Given the description of an element on the screen output the (x, y) to click on. 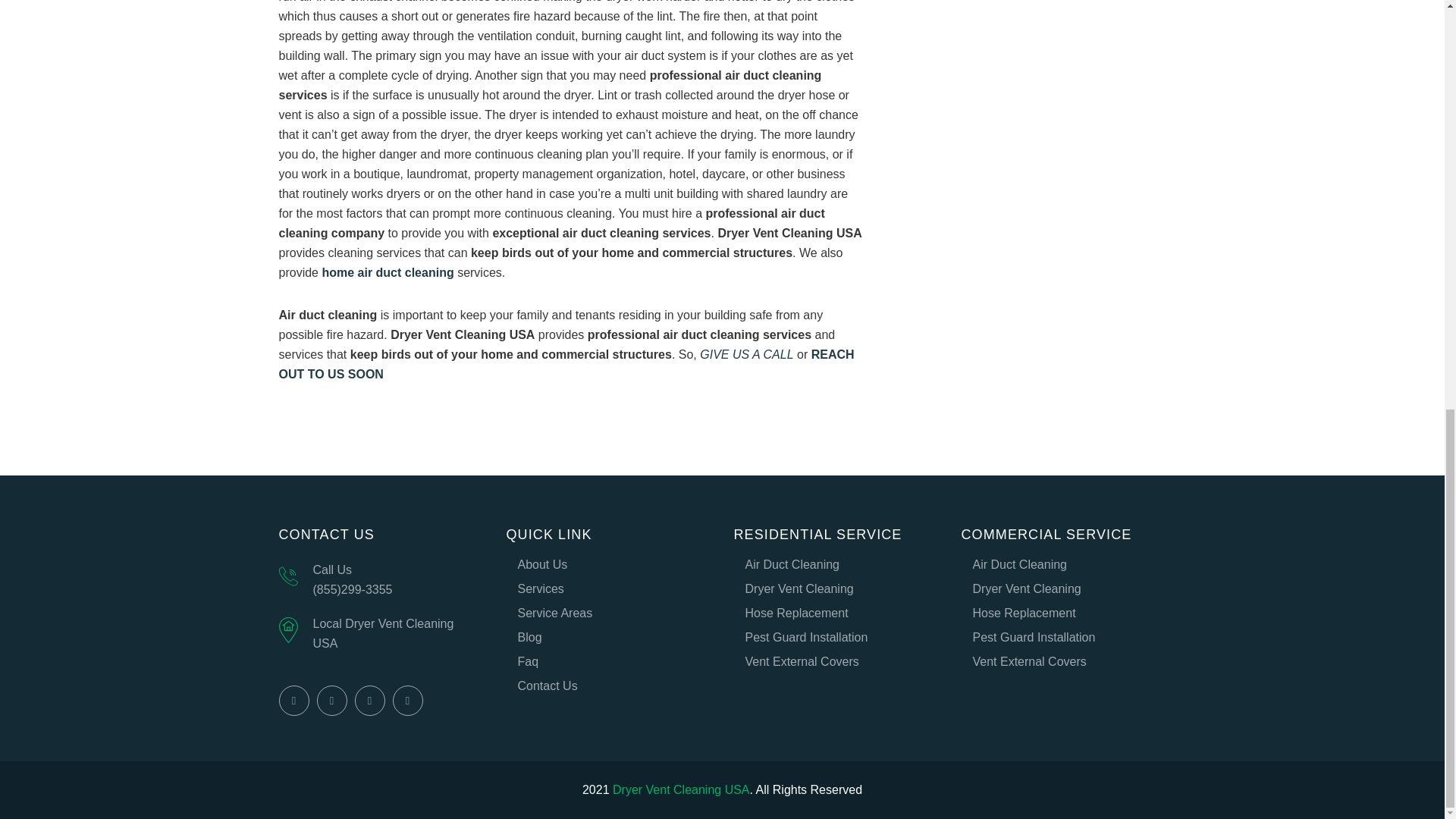
home air duct cleaning (386, 272)
GIVE US A CALL (746, 354)
